Given the description of an element on the screen output the (x, y) to click on. 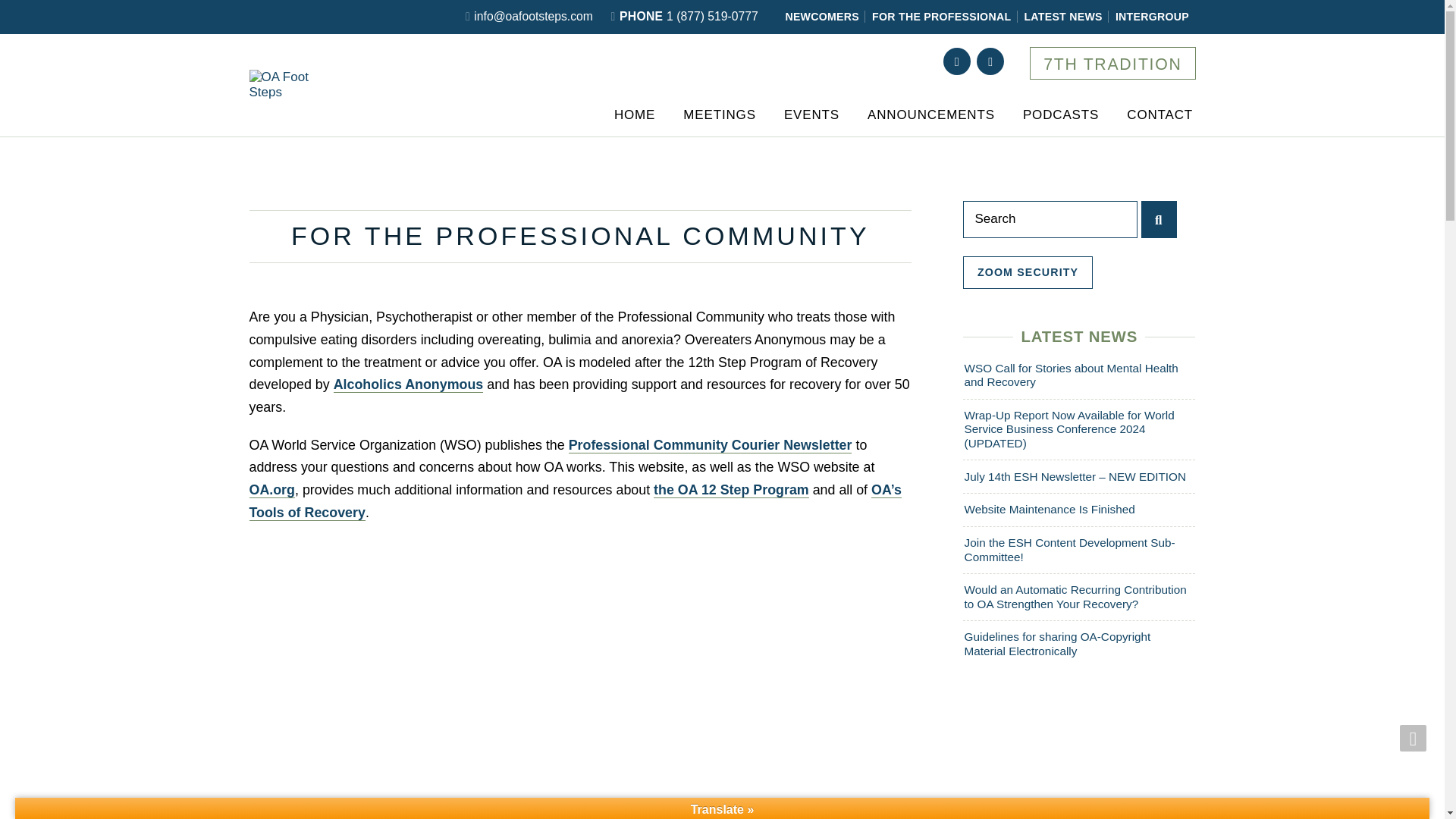
Like me on Facebook (957, 61)
LATEST NEWS (1064, 17)
NEWCOMERS (822, 17)
FOR THE PROFESSIONAL (943, 17)
7TH TRADITION (1112, 62)
INTERGROUP (1153, 17)
Follow on TikTok (990, 61)
